Given the description of an element on the screen output the (x, y) to click on. 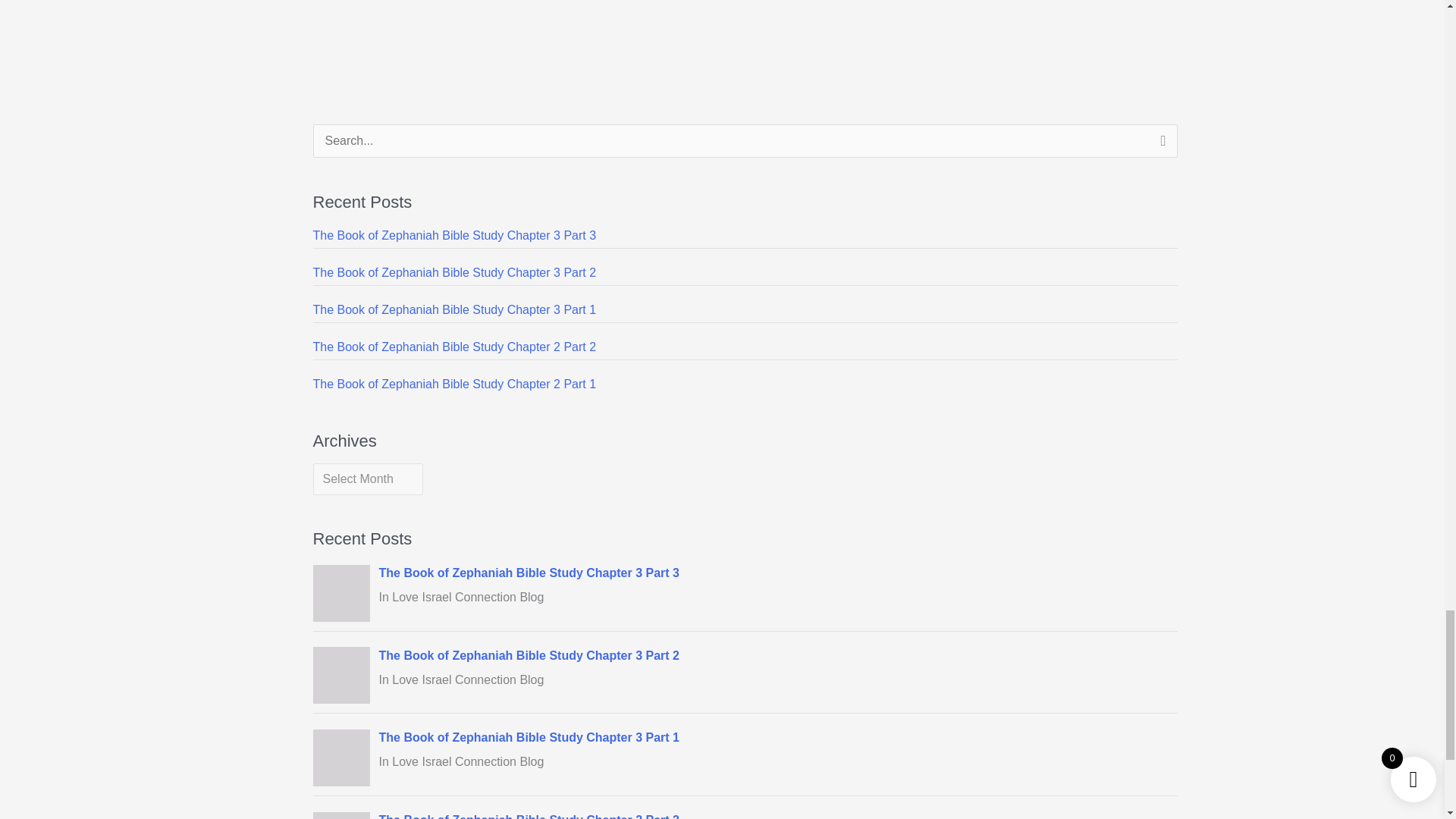
The Book of Zephaniah Bible Study Chapter 3 Part 2 (454, 272)
The Book of Zephaniah Bible Study Chapter 3 Part 1 (454, 309)
The Book of Zephaniah Bible Study Chapter 3 Part 3 (454, 235)
